Given the description of an element on the screen output the (x, y) to click on. 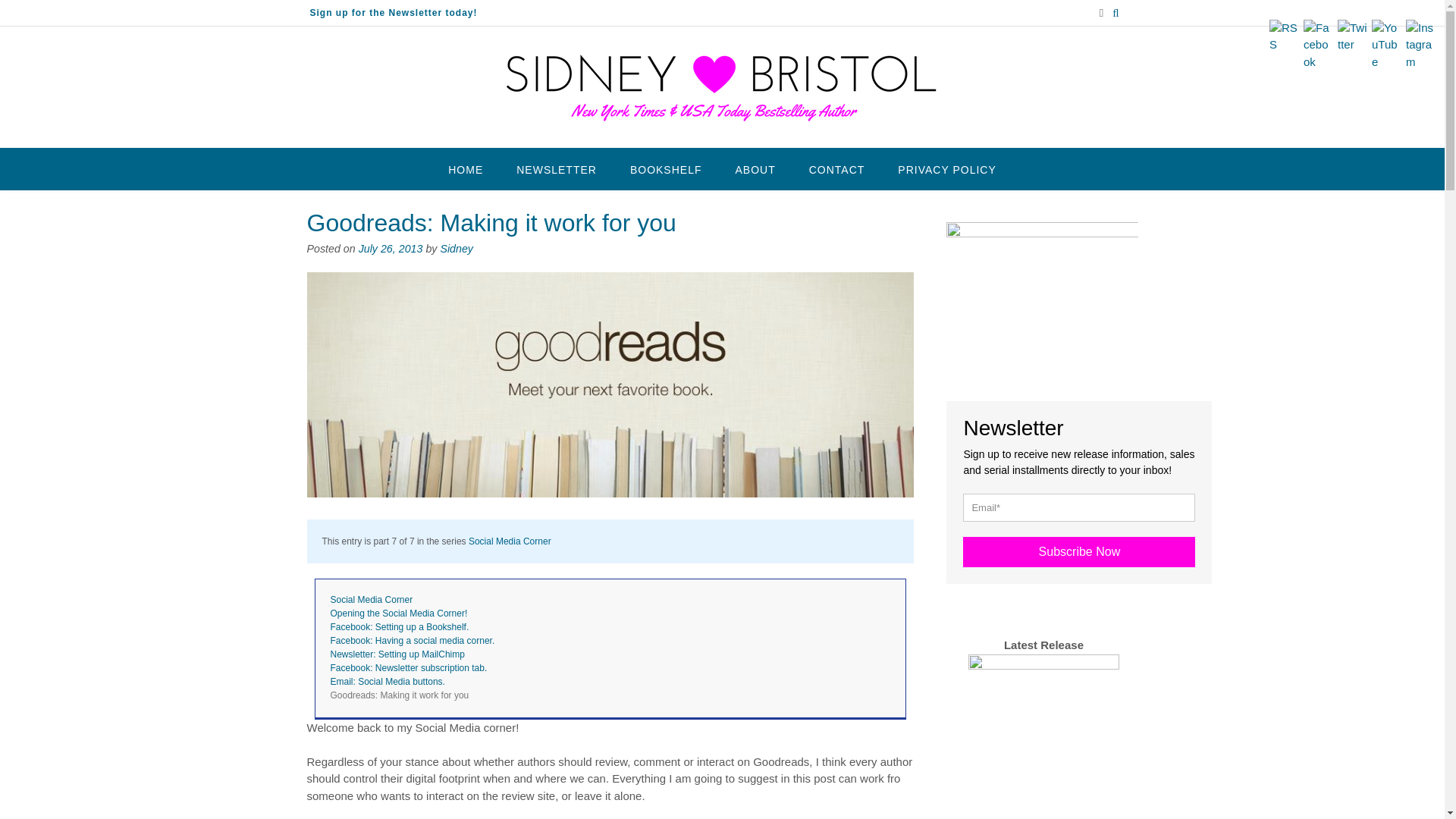
Social Media Corner (509, 541)
BOOKSHELF (665, 169)
Sidney (456, 248)
Facebook: Having a social media corner. (412, 640)
Email: Social Media buttons. (387, 681)
Opening the Social Media Corner! (398, 613)
Facebook: Setting up a Bookshelf. (399, 626)
Social Media Corner (509, 541)
Newsletter: Setting up MailChimp (397, 654)
Email: Social Media buttons. (387, 681)
